Given the description of an element on the screen output the (x, y) to click on. 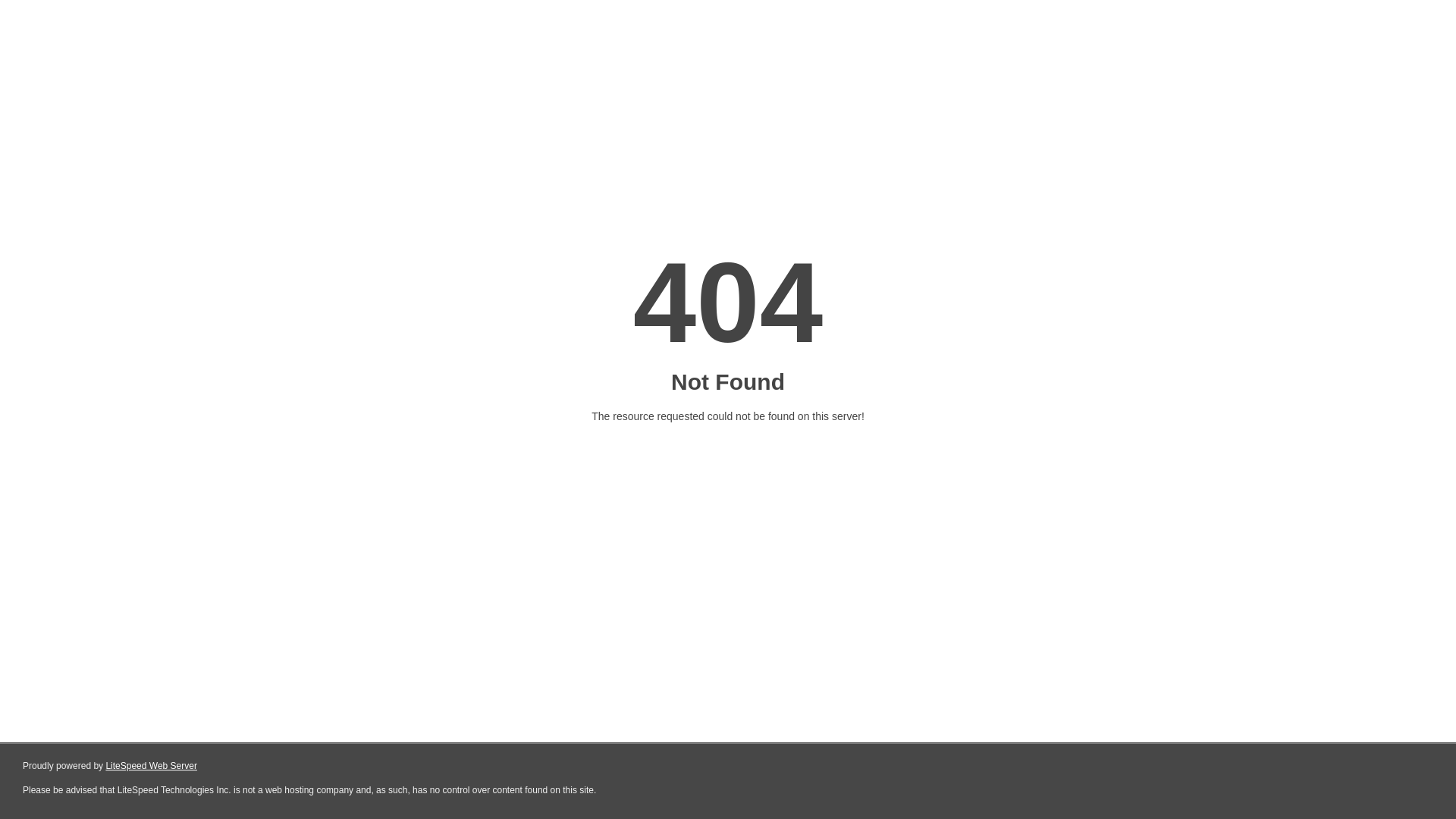
LiteSpeed Web Server Element type: text (151, 765)
